Given the description of an element on the screen output the (x, y) to click on. 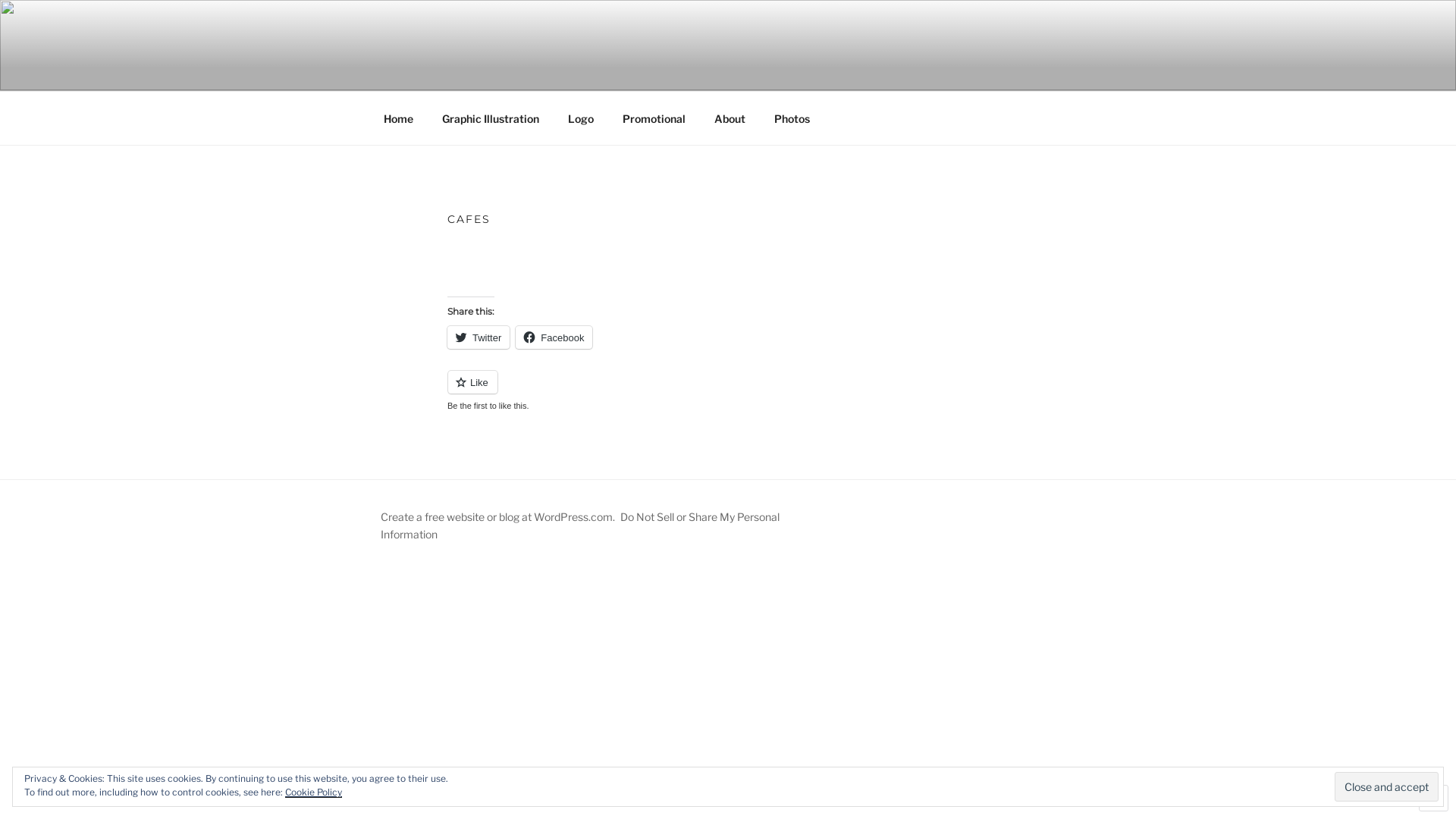
Twitter Element type: text (478, 337)
Promotional Element type: text (653, 118)
Close and accept Element type: text (1386, 786)
About Element type: text (729, 118)
Like or Reblog Element type: hover (727, 390)
Photos Element type: text (791, 118)
Cookie Policy Element type: text (313, 791)
Logo Element type: text (580, 118)
Graphic Illustration Element type: text (490, 118)
Home Element type: text (398, 118)
Facebook Element type: text (553, 337)
Do Not Sell or Share My Personal Information Element type: text (579, 524)
Create a free website or blog at WordPress.com. Element type: text (497, 516)
